Given the description of an element on the screen output the (x, y) to click on. 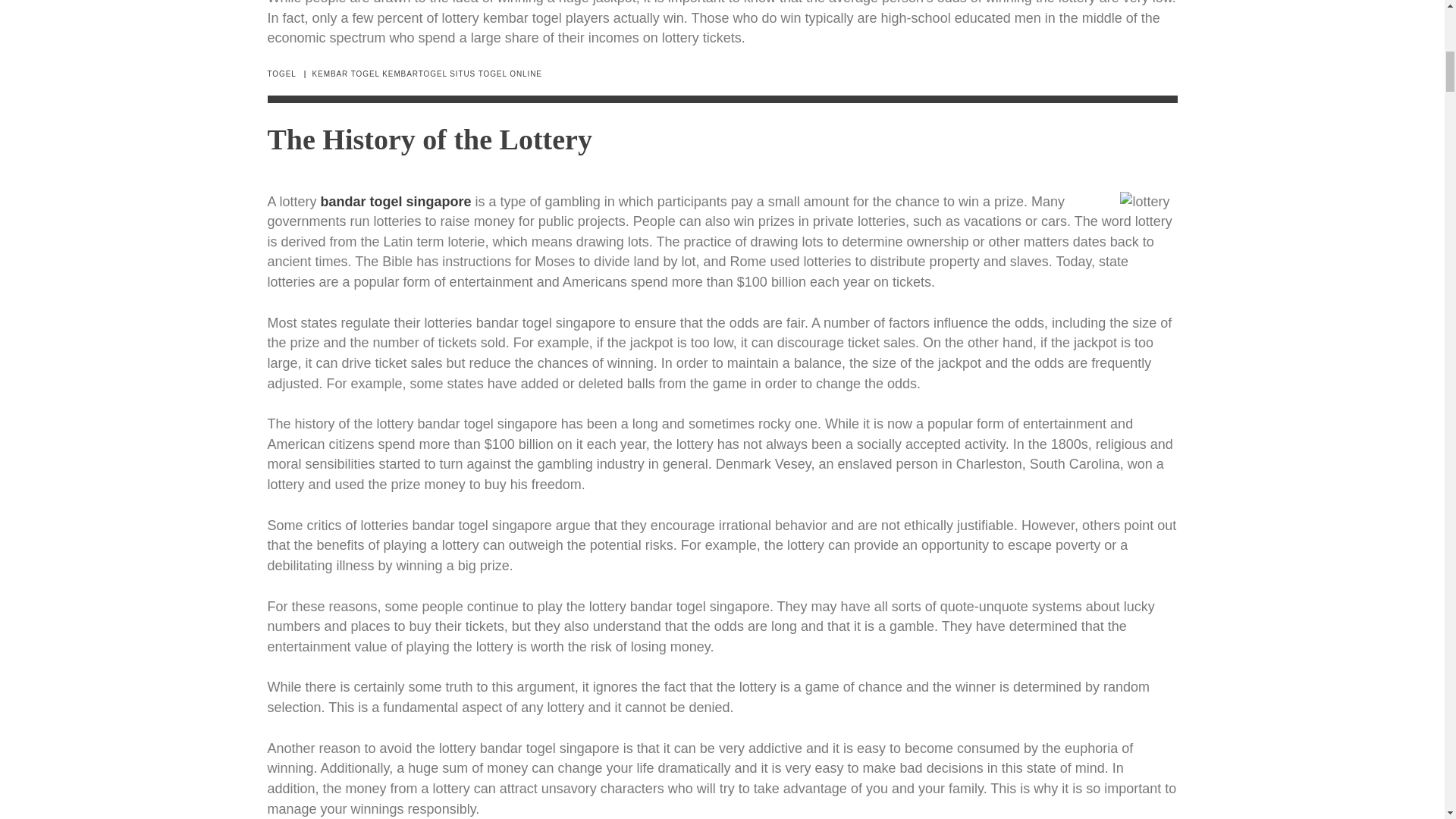
bandar togel singapore (395, 201)
SITUS TOGEL ONLINE (495, 73)
TOGEL (280, 73)
The History of the Lottery (428, 139)
KEMBAR TOGEL (346, 73)
The History of the Lottery (428, 139)
KEMBARTOGEL (413, 73)
